Given the description of an element on the screen output the (x, y) to click on. 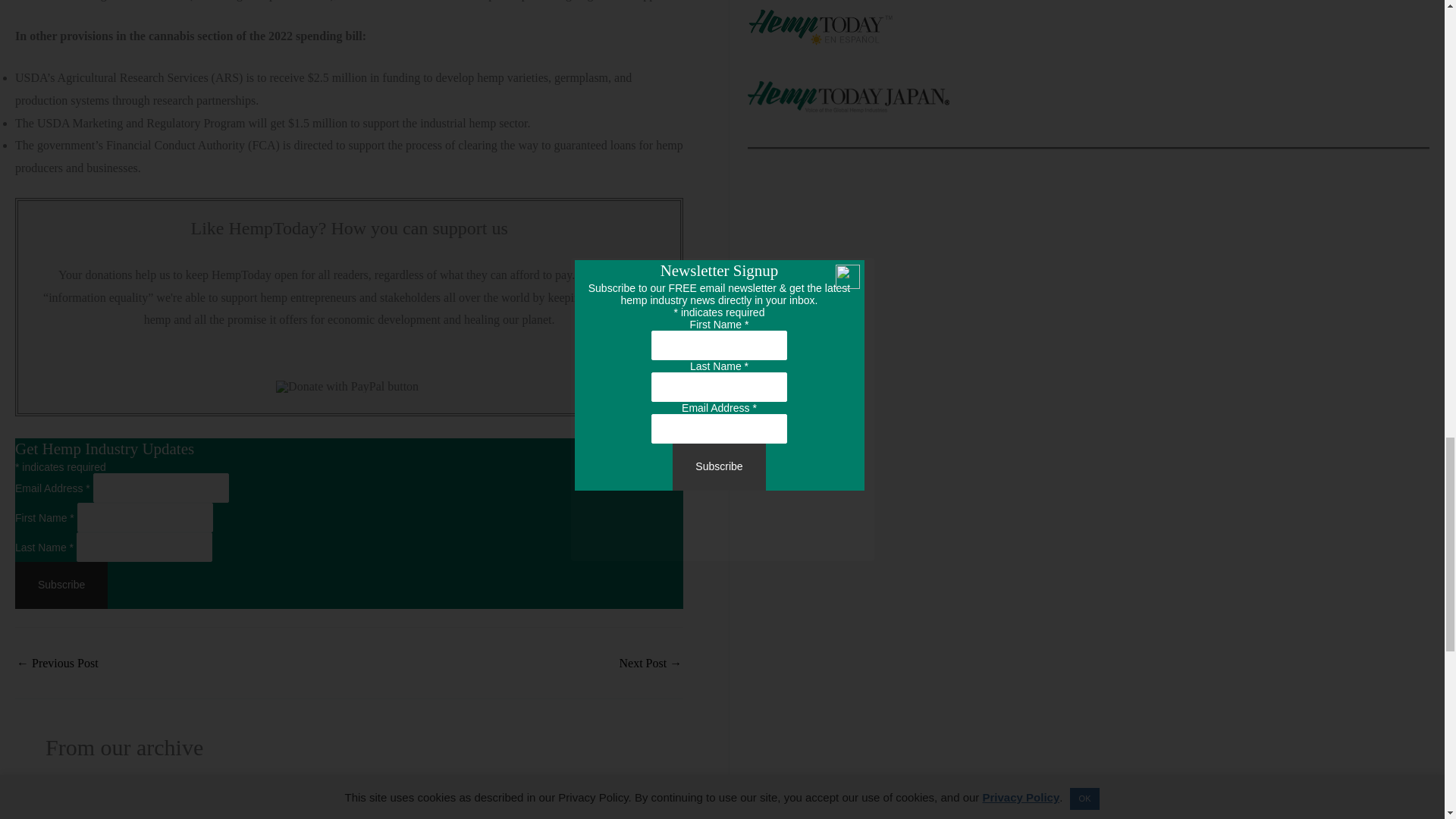
Subscribe (60, 585)
PayPal - The safer, easier way to pay online! (347, 386)
